Given the description of an element on the screen output the (x, y) to click on. 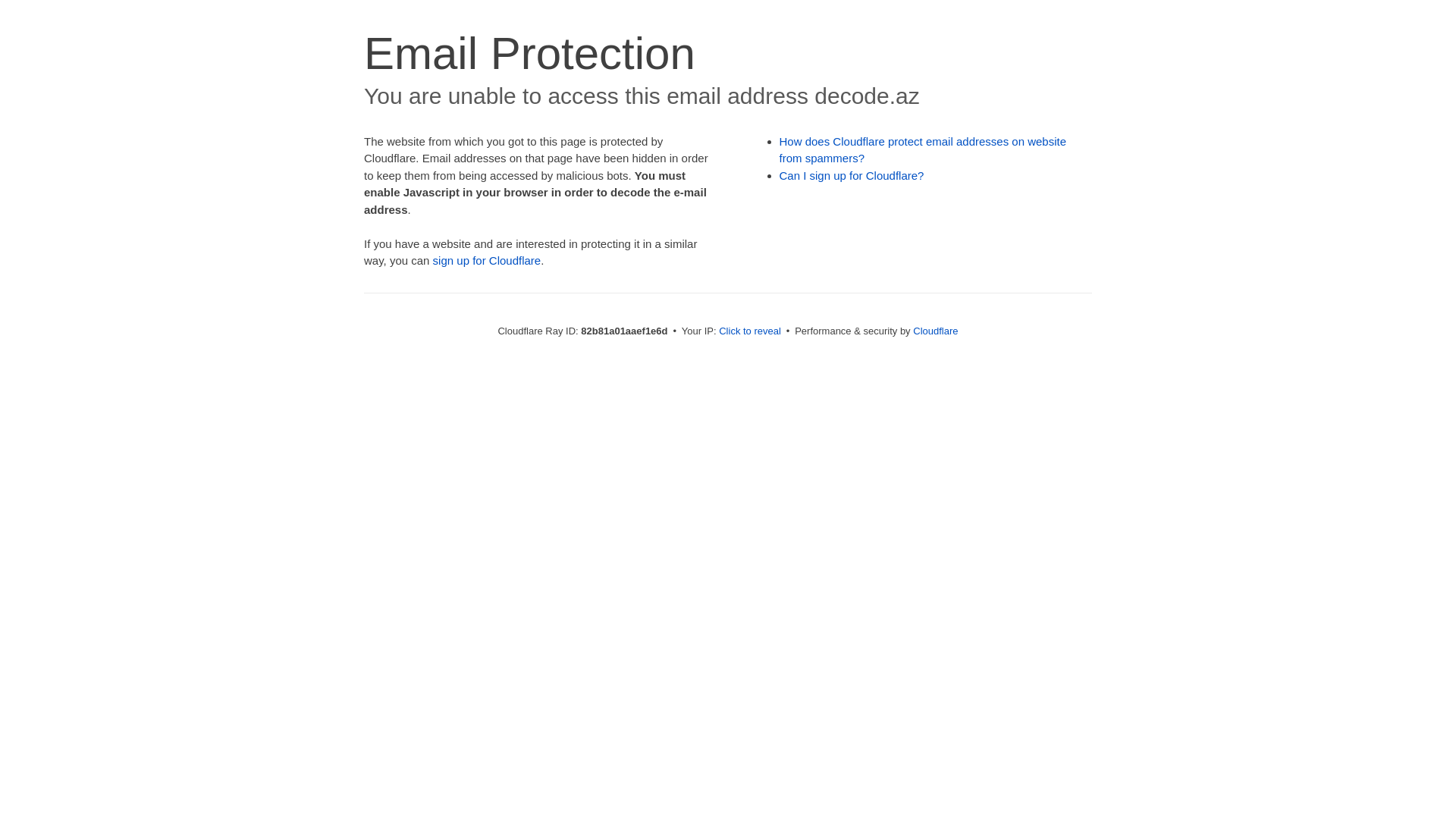
Click to reveal Element type: text (749, 330)
Cloudflare Element type: text (935, 330)
sign up for Cloudflare Element type: text (487, 260)
Can I sign up for Cloudflare? Element type: text (851, 175)
